Given the description of an element on the screen output the (x, y) to click on. 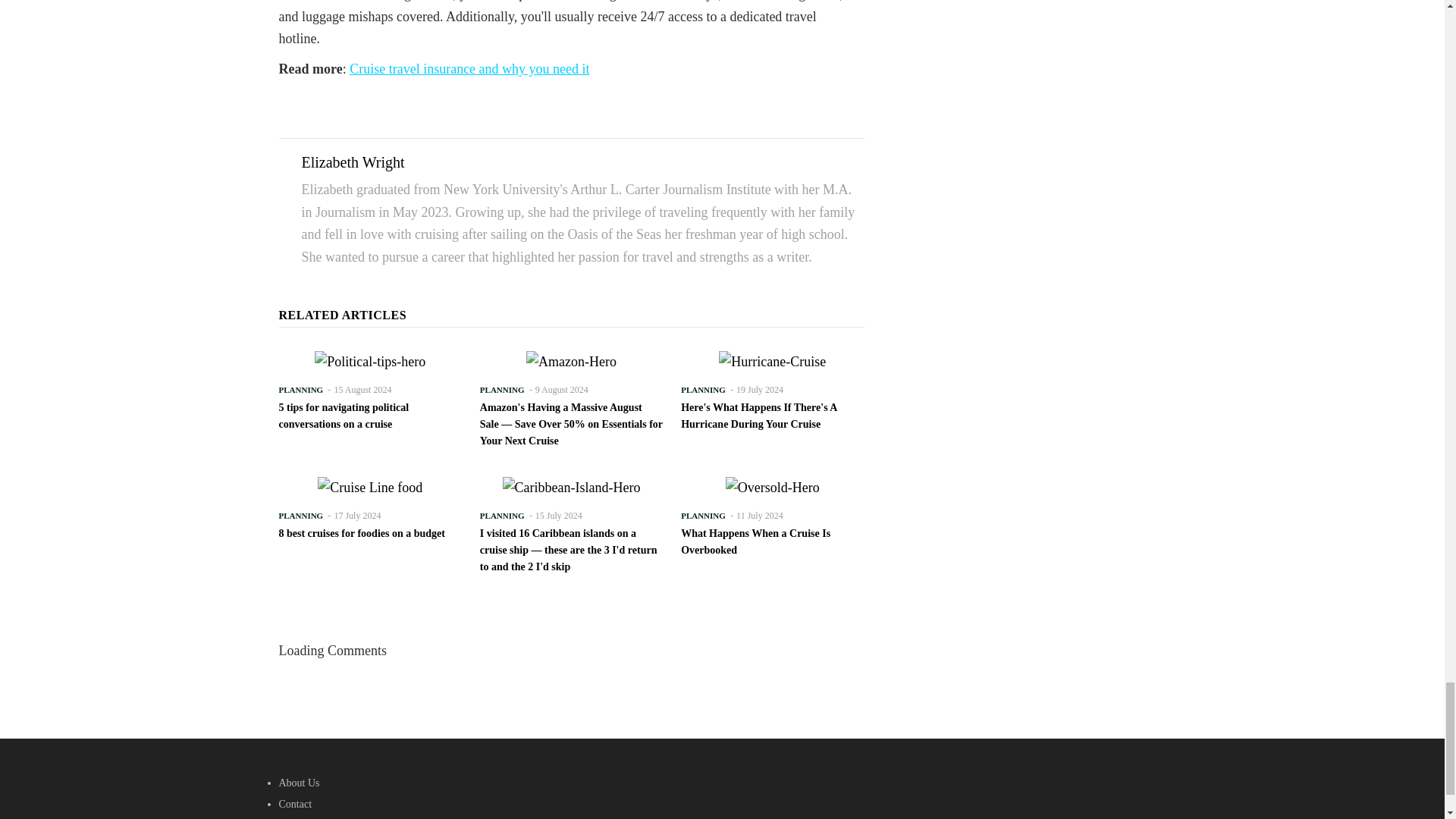
Elizabeth Wright (352, 161)
Cruise travel insurance and why you need it (469, 68)
5 tips for navigating political conversations on a cruise (370, 416)
PLANNING (301, 389)
